Given the description of an element on the screen output the (x, y) to click on. 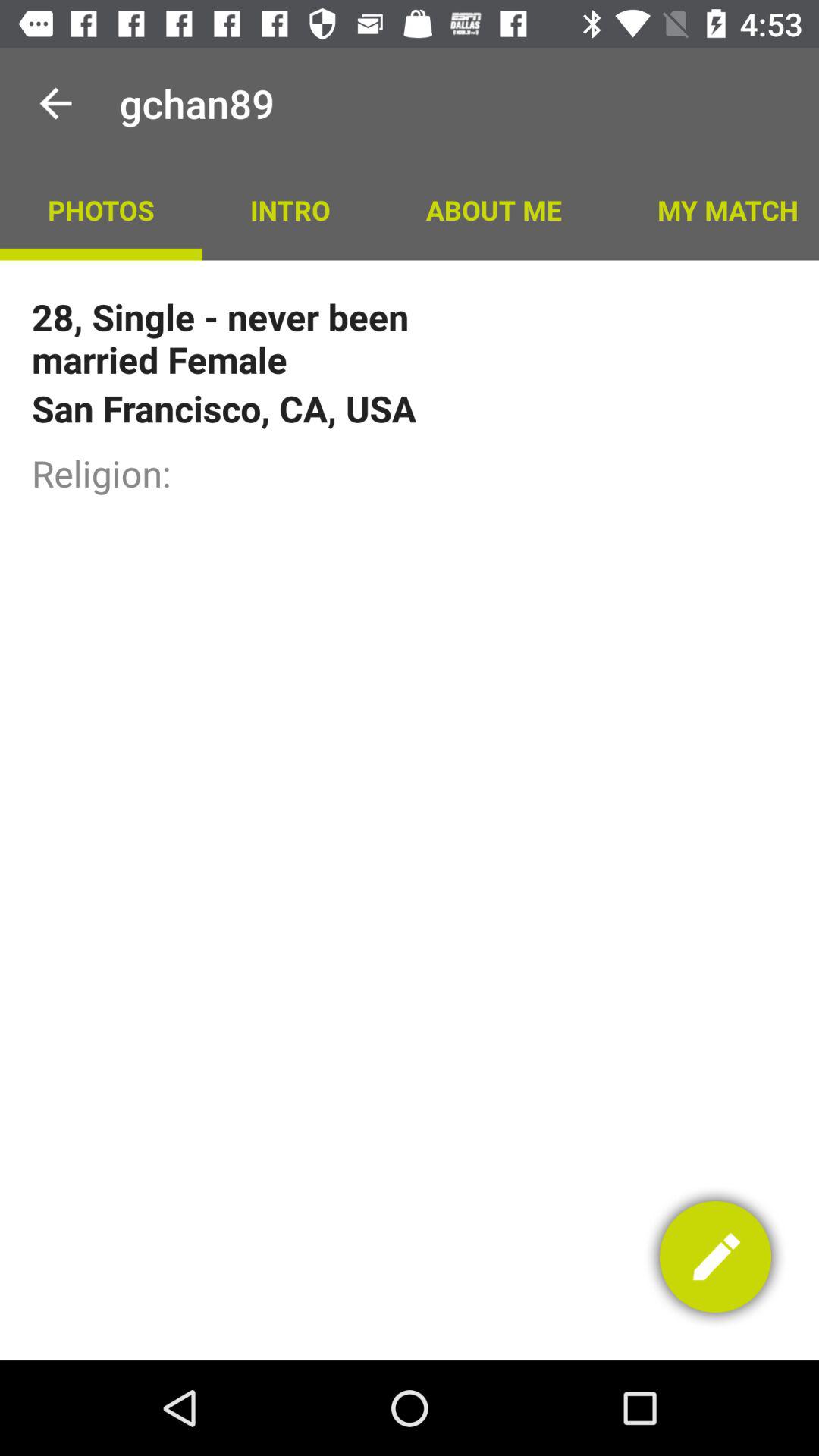
tap app above photos app (55, 103)
